Given the description of an element on the screen output the (x, y) to click on. 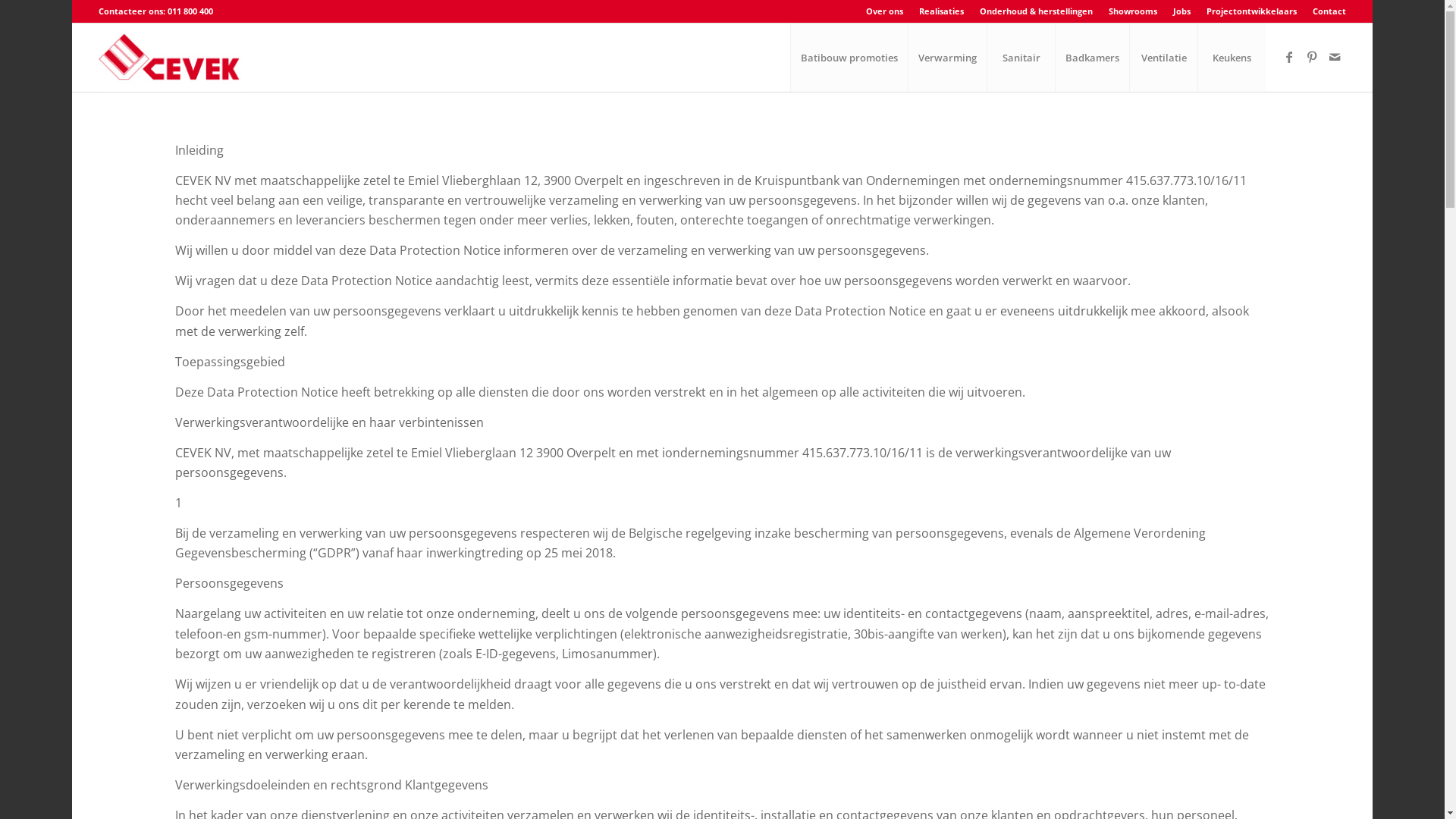
Mail Element type: hover (1334, 56)
Batibouw promoties Element type: text (848, 57)
Contact Element type: text (1329, 10)
Sanitair Element type: text (1020, 57)
Pinterest Element type: hover (1311, 56)
Badkamers Element type: text (1091, 57)
logo_cevek Element type: hover (172, 57)
Onderhoud & herstellingen Element type: text (1035, 10)
Verwarming Element type: text (946, 57)
Keukens Element type: text (1231, 57)
Facebook Element type: hover (1288, 56)
Over ons Element type: text (884, 10)
Projectontwikkelaars Element type: text (1251, 10)
Showrooms Element type: text (1132, 10)
Ventilatie Element type: text (1163, 57)
Jobs Element type: text (1181, 10)
Realisaties Element type: text (941, 10)
